Given the description of an element on the screen output the (x, y) to click on. 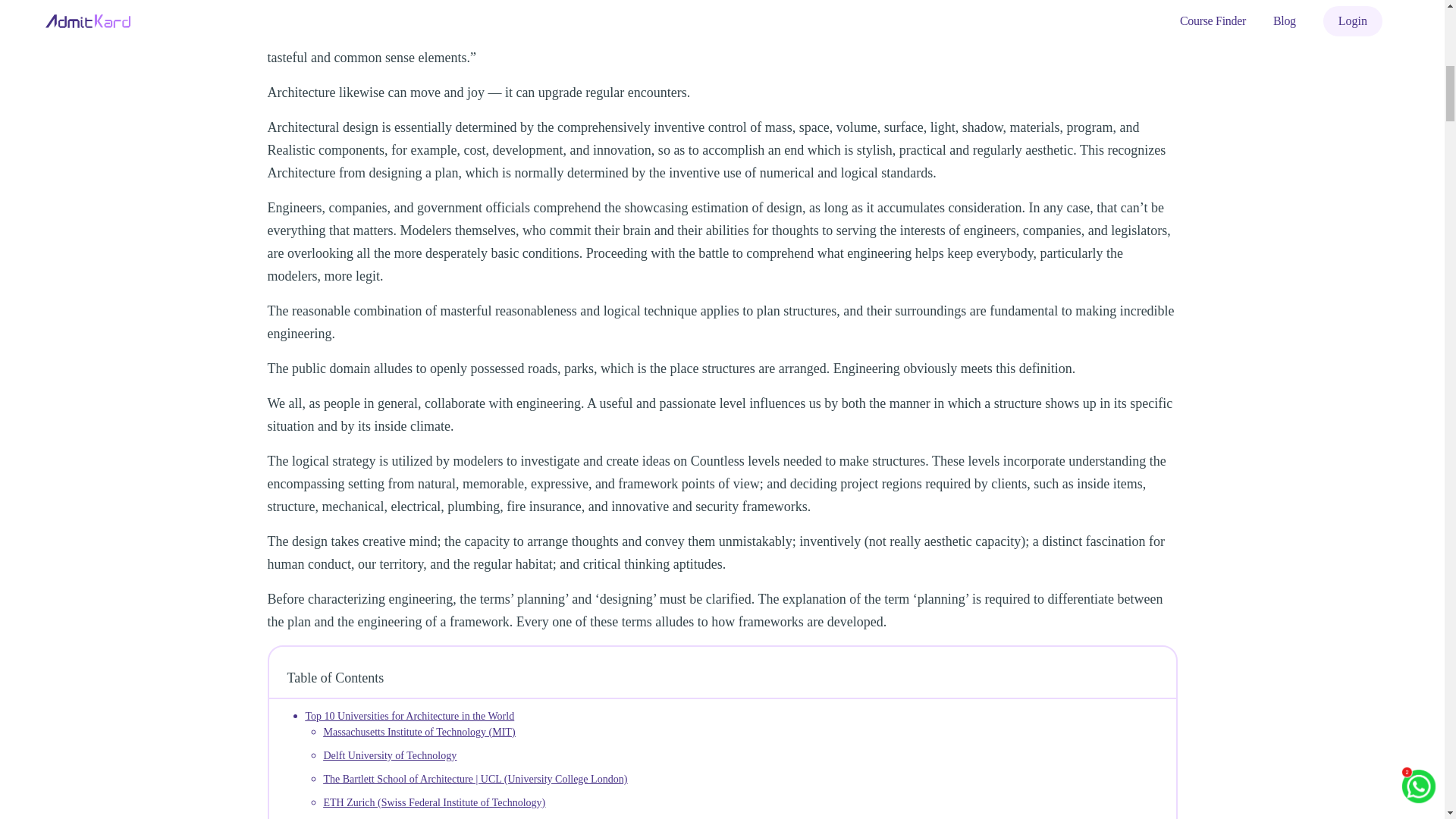
Top 10 Universities for Architecture in the World (408, 715)
Delft University of Technology (390, 755)
Delft University of Technology (390, 755)
Top 10 Universities for Architecture in the World (408, 715)
